Given the description of an element on the screen output the (x, y) to click on. 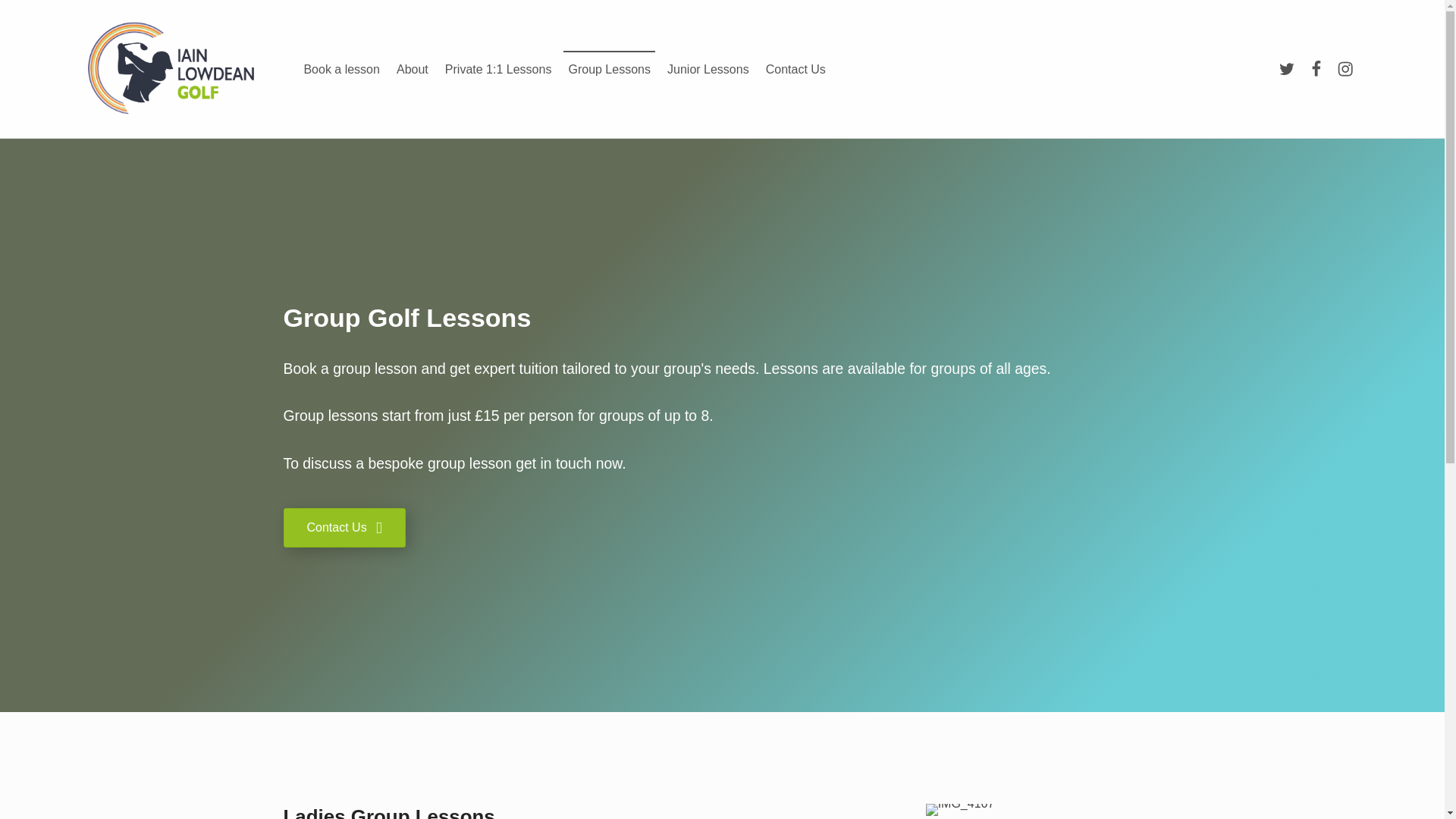
Junior Lessons (708, 68)
Contact Us (795, 68)
Private 1:1 Lessons (498, 68)
Book a lesson (341, 68)
Group Lessons (609, 68)
Contact Us (344, 527)
About (411, 68)
